Given the description of an element on the screen output the (x, y) to click on. 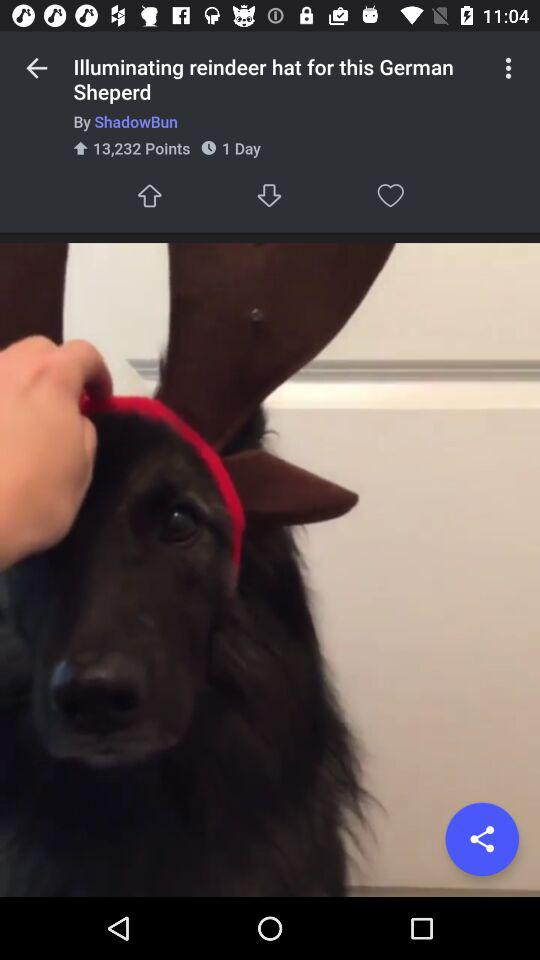
go back to image gallery (36, 68)
